Given the description of an element on the screen output the (x, y) to click on. 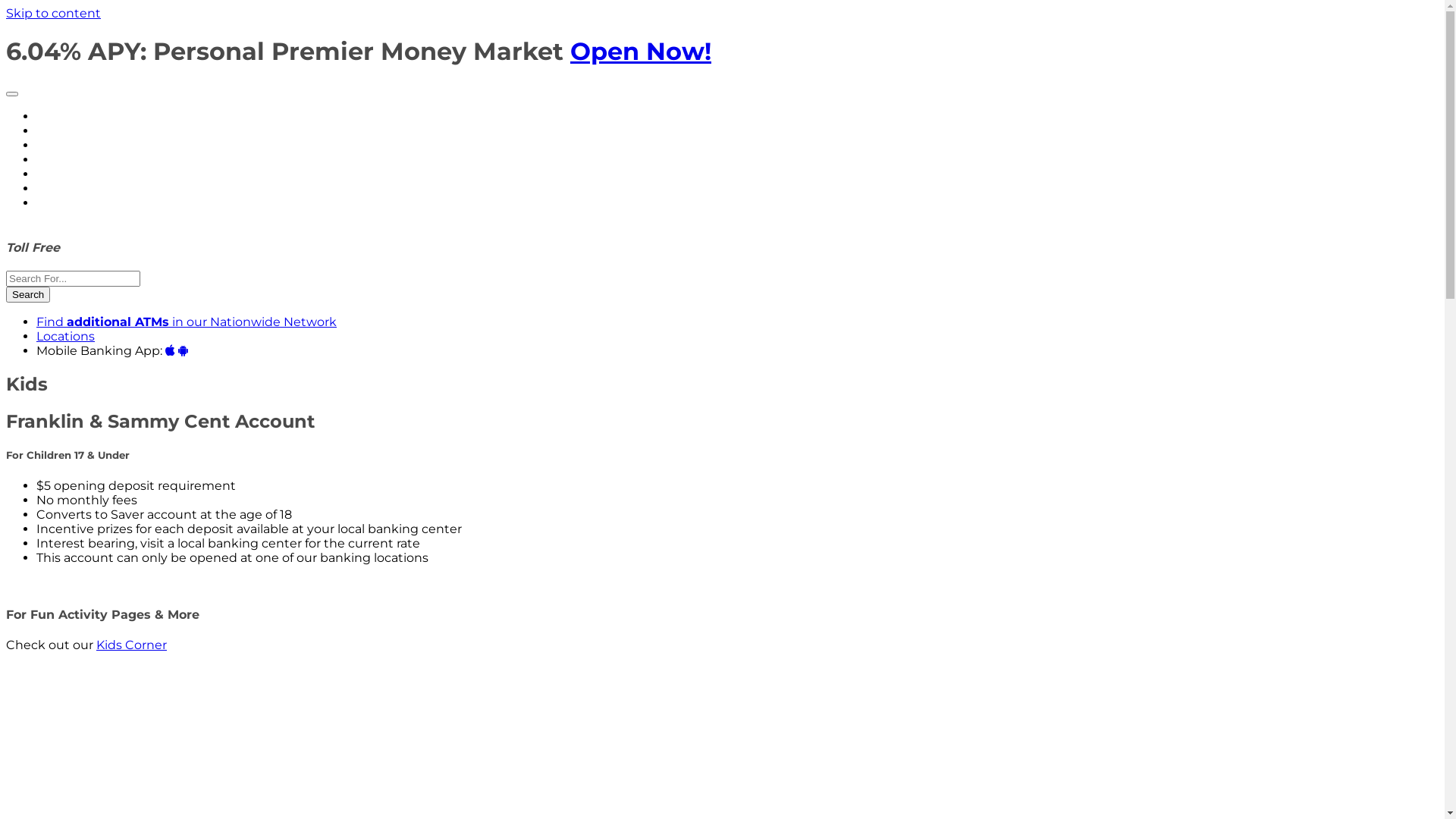
Search Element type: text (28, 294)
About Element type: text (62, 159)
Open Now! Element type: text (640, 50)
Find additional ATMs in our Nationwide Network Element type: text (186, 321)
1-800-669-2517 Element type: text (109, 247)
Open Online Element type: text (82, 116)
Kids Corner Element type: text (131, 644)
Skip to content Element type: text (53, 13)
501-679-8000 Element type: text (48, 232)
First Service Bank Element type: text (79, 89)
Mobile App: Android Element type: hover (183, 350)
Loans Element type: text (61, 145)
Locations Element type: text (65, 336)
Mobile App: iOS Element type: hover (170, 350)
Operation Red, White, & Brave Element type: text (127, 202)
Toggle navigation Element type: text (12, 93)
Accounts Element type: text (72, 130)
Contact Element type: text (60, 173)
#firstservicestrong Element type: text (93, 188)
